Given the description of an element on the screen output the (x, y) to click on. 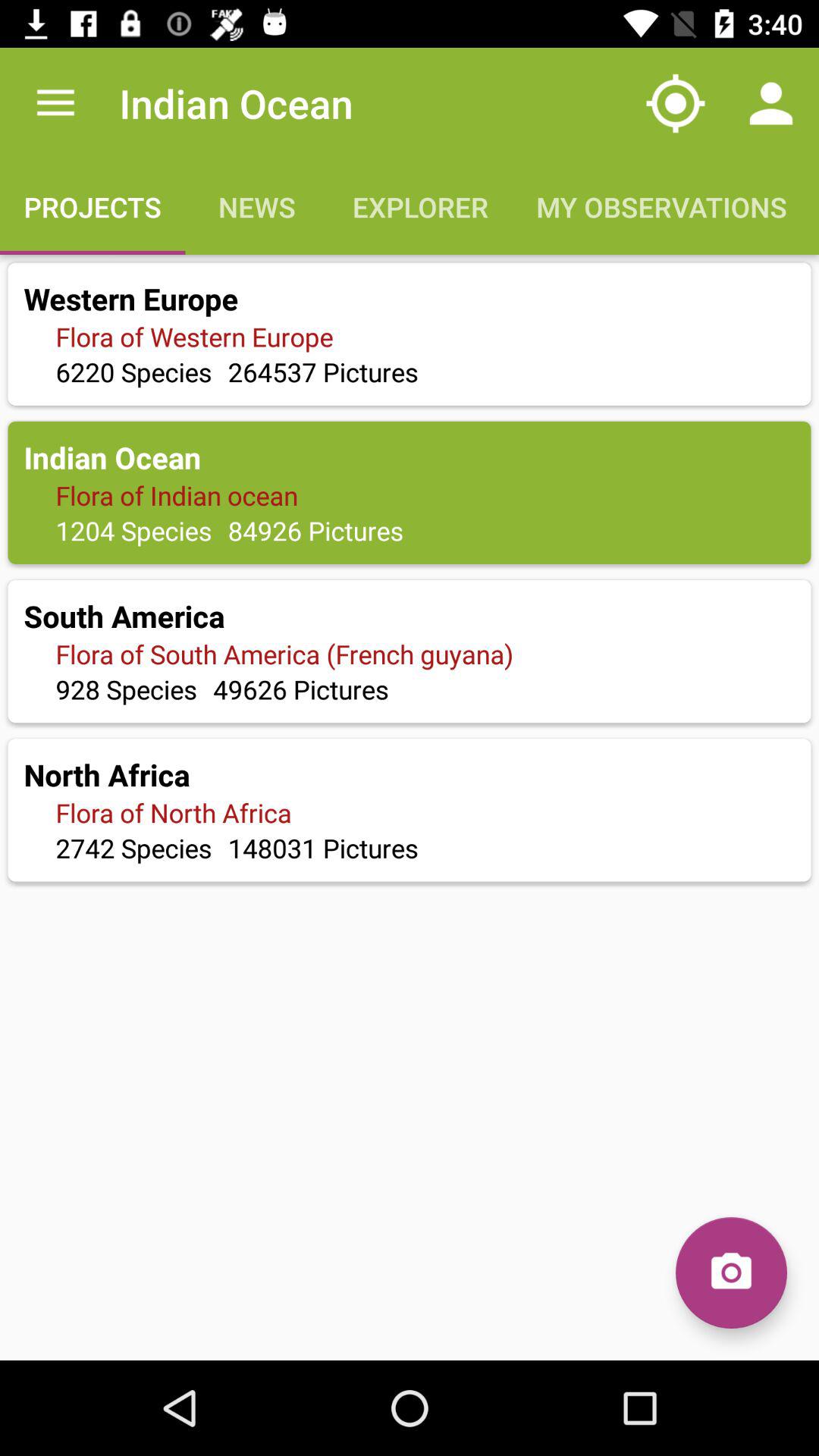
turn off the icon above the projects icon (55, 103)
